Given the description of an element on the screen output the (x, y) to click on. 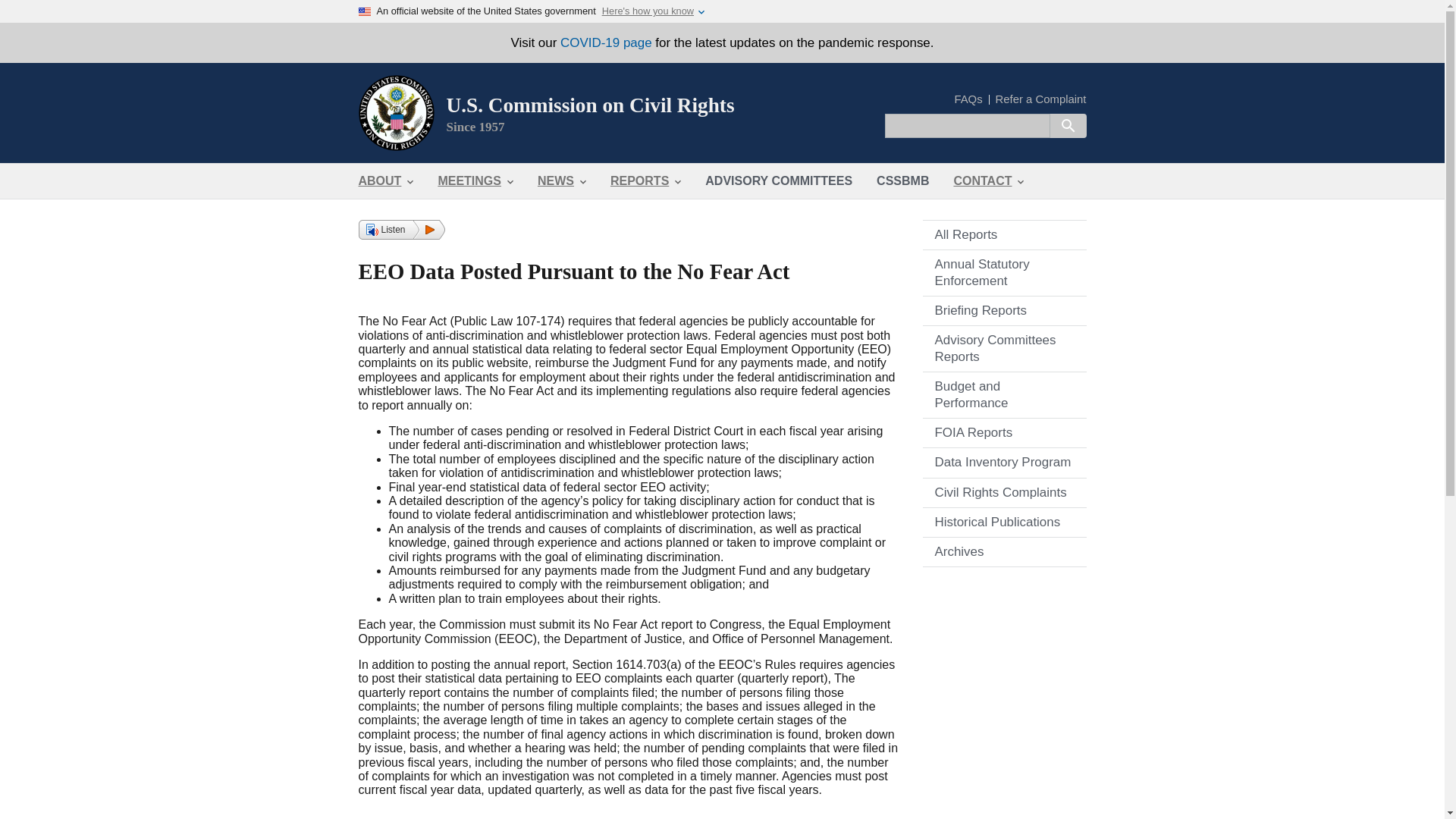
FAQs (967, 99)
NEWS (561, 181)
Budget and Performance (1003, 394)
ABOUT (385, 181)
Annual Statutory Enforcement (1003, 272)
Listen (401, 229)
Advisory Committees Reports (1003, 348)
Archives (1003, 551)
Historical Publications (1003, 522)
U.S. Commission on Civil Rights (589, 105)
COVID-19 page (606, 42)
All Reports (1003, 234)
Commission on the Social Status of Black Men and Boys (902, 181)
FOIA Reports (1003, 432)
CSSBMB (902, 181)
